Given the description of an element on the screen output the (x, y) to click on. 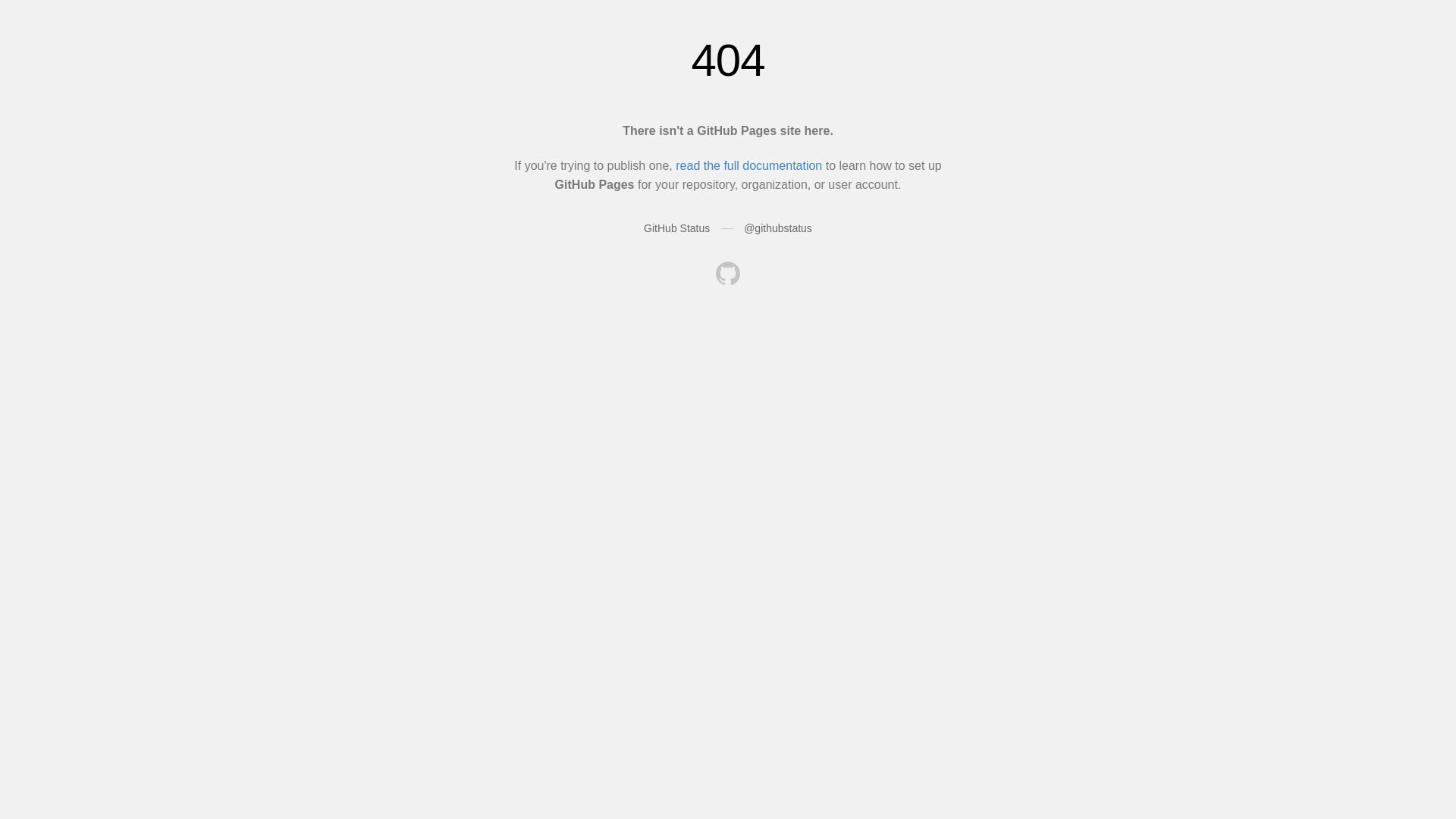
@githubstatus Element type: text (777, 228)
GitHub Status Element type: text (676, 228)
read the full documentation Element type: text (748, 165)
